Given the description of an element on the screen output the (x, y) to click on. 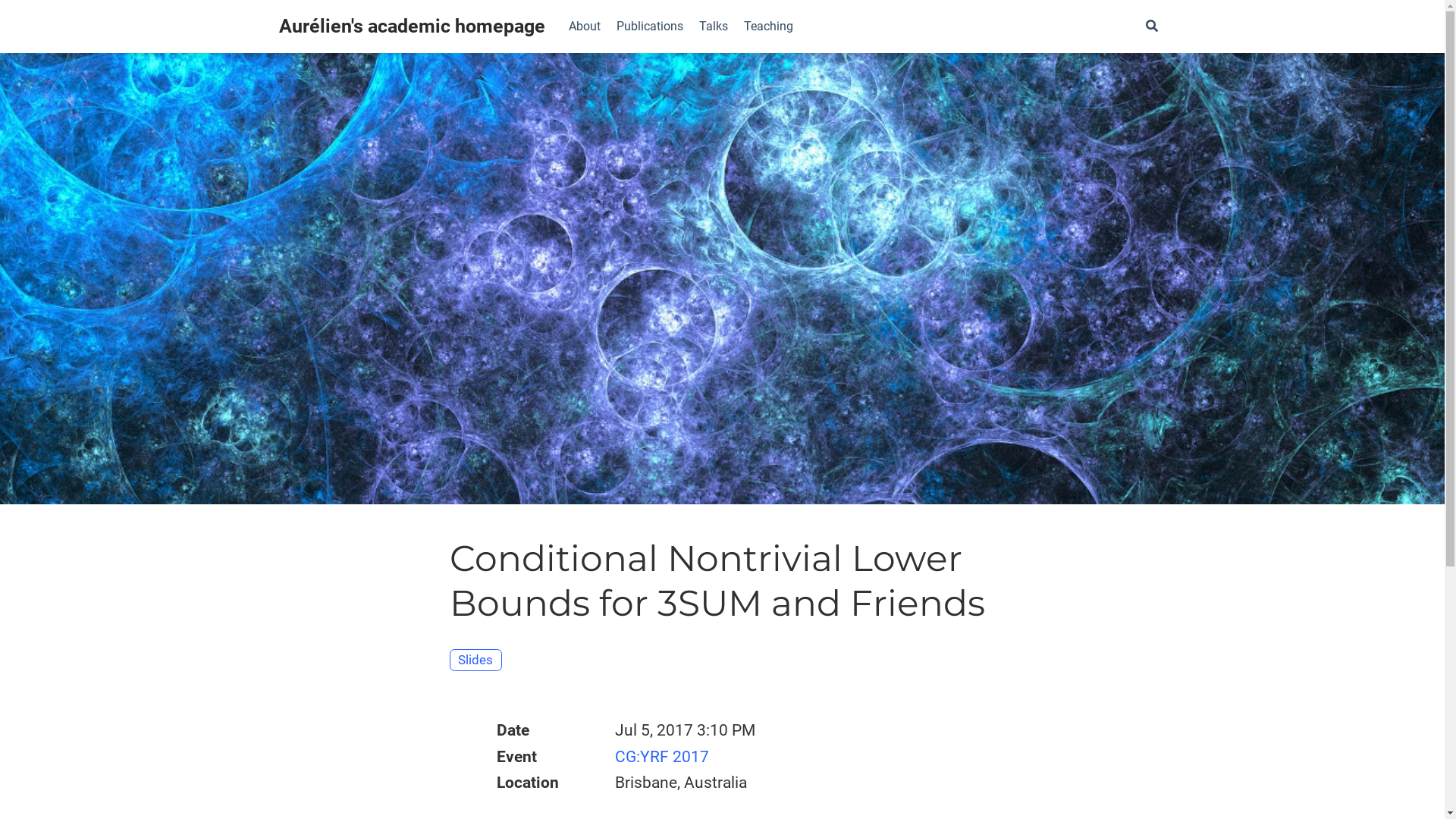
Slides Element type: text (474, 660)
CG:YRF 2017 Element type: text (662, 756)
About Element type: text (584, 26)
Publications Element type: text (649, 26)
Talks Element type: text (713, 26)
Teaching Element type: text (767, 26)
